Given the description of an element on the screen output the (x, y) to click on. 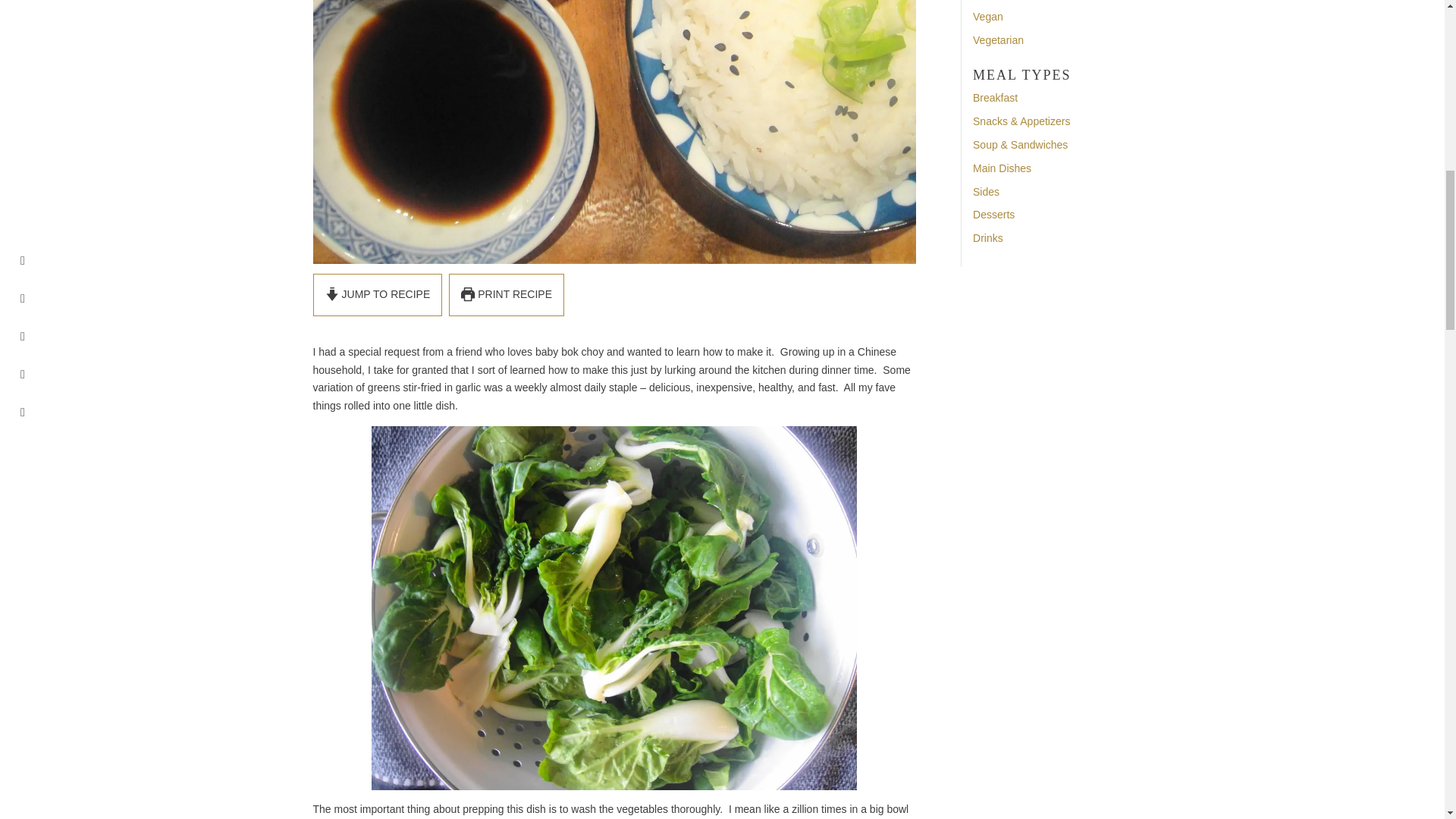
JUMP TO RECIPE (377, 294)
Vegetarian (997, 39)
Vegan (987, 16)
PRINT RECIPE (506, 294)
